Given the description of an element on the screen output the (x, y) to click on. 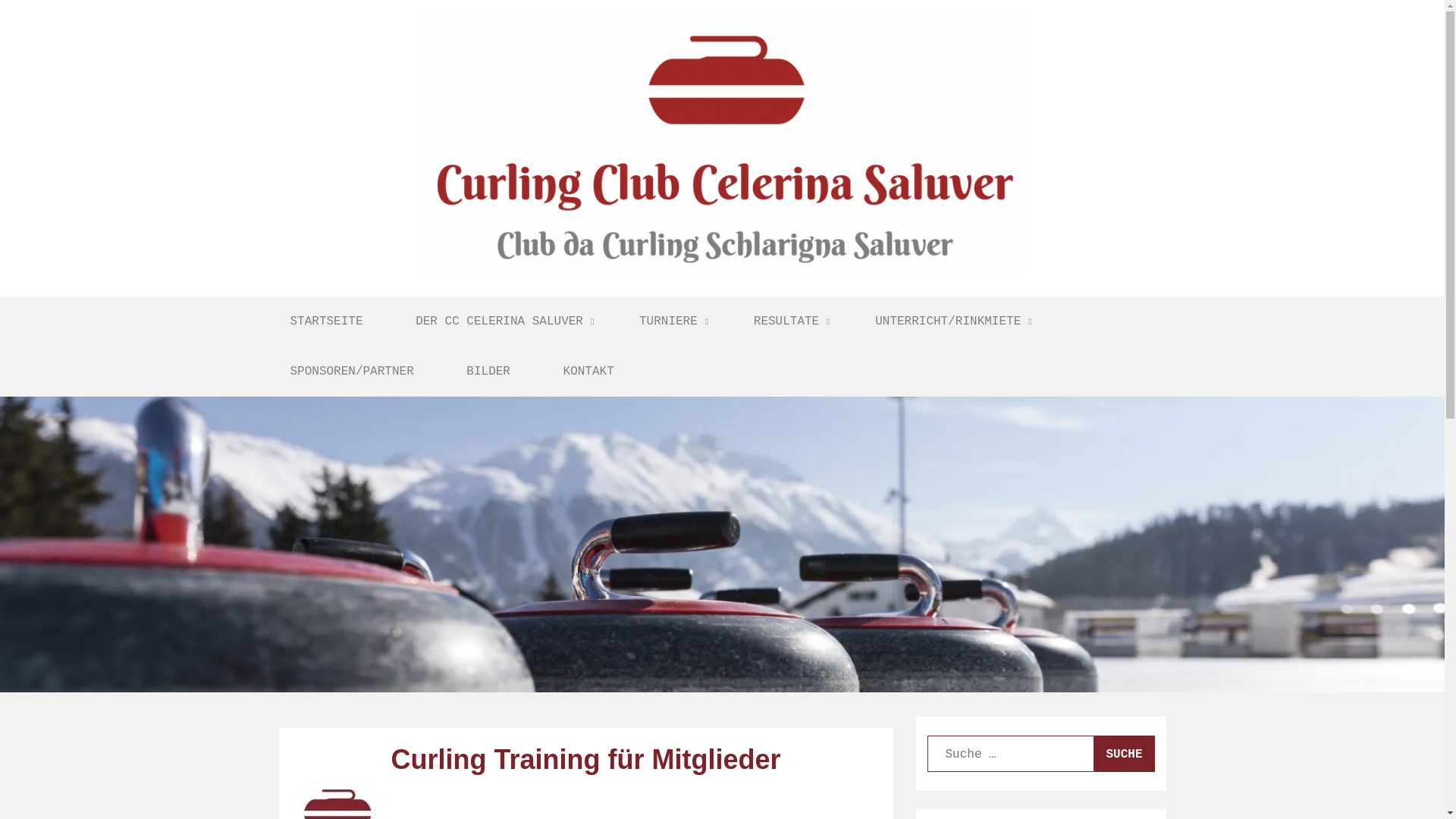
BILDER Element type: text (488, 371)
TURNIERE Element type: text (669, 321)
CC Celerina Saluver Element type: text (395, 303)
UNTERRICHT/RINKMIETE Element type: text (949, 321)
KONTAKT Element type: text (588, 371)
Suche Element type: text (1123, 753)
DER CC CELERINA SALUVER Element type: text (500, 321)
SPONSOREN/PARTNER Element type: text (351, 371)
RESULTATE Element type: text (788, 321)
STARTSEITE Element type: text (325, 321)
